Given the description of an element on the screen output the (x, y) to click on. 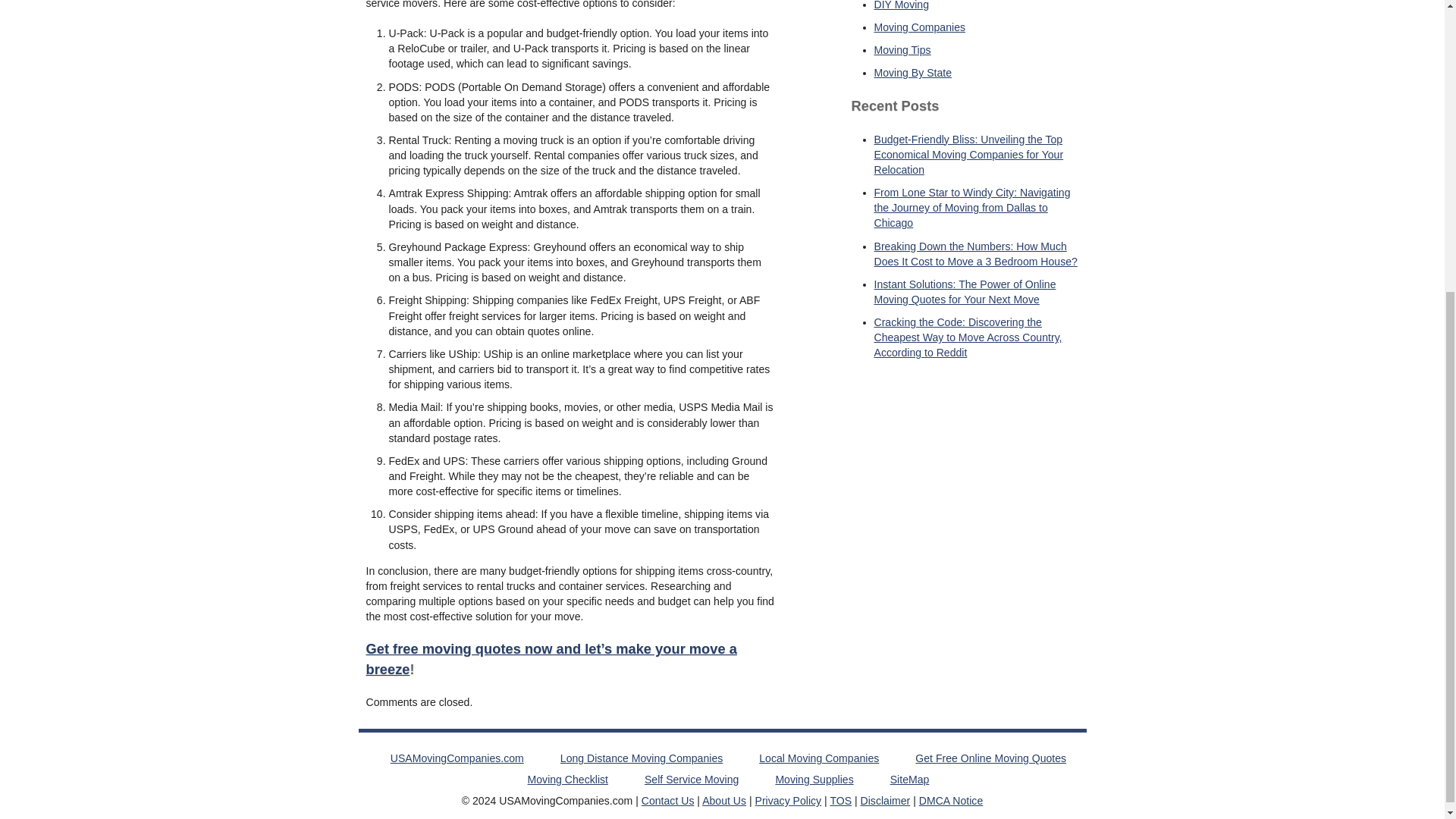
Moving Supplies (813, 779)
Contact Us (668, 800)
DMCA Notice (951, 800)
about us (723, 800)
contact us (668, 800)
disclaimer (885, 800)
Moving Tips (901, 50)
Moving Companies (919, 27)
Moving Checklist (567, 779)
Local Moving Companies (818, 758)
SiteMap (909, 779)
Self Service Moving (691, 779)
